Given the description of an element on the screen output the (x, y) to click on. 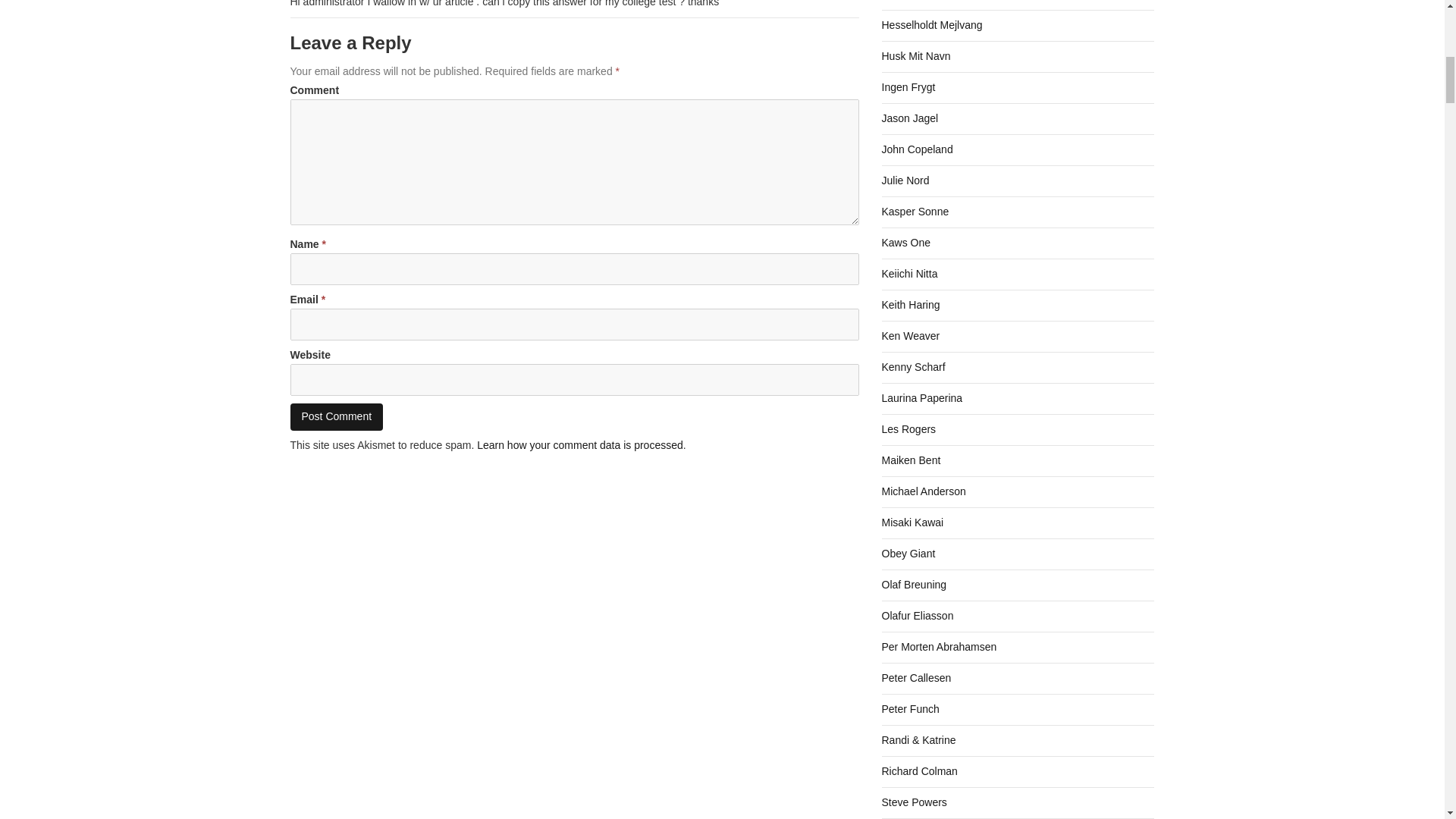
Post Comment (335, 416)
Learn how your comment data is processed (579, 444)
Post Comment (335, 416)
